Given the description of an element on the screen output the (x, y) to click on. 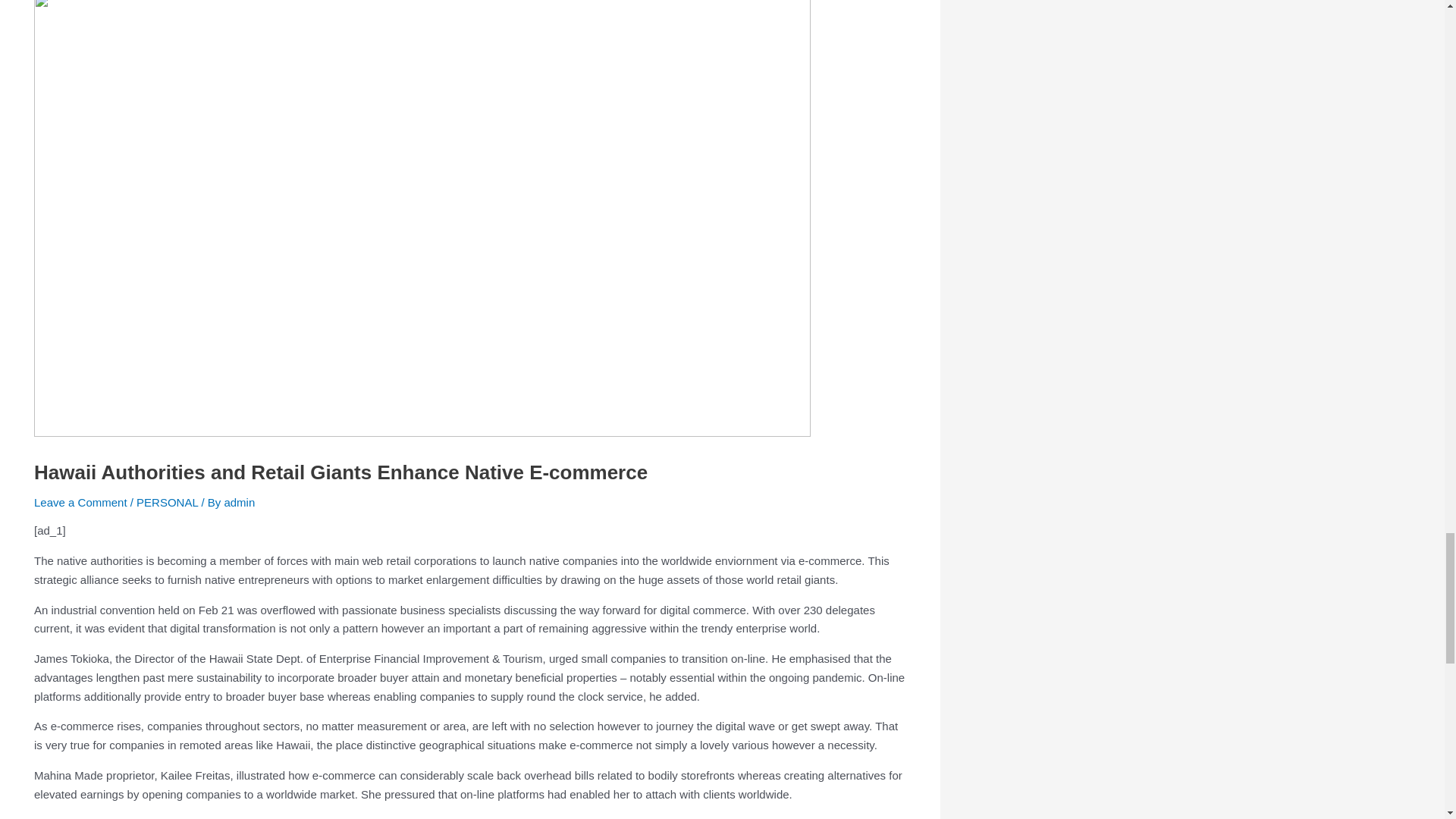
View all posts by admin (239, 502)
